Given the description of an element on the screen output the (x, y) to click on. 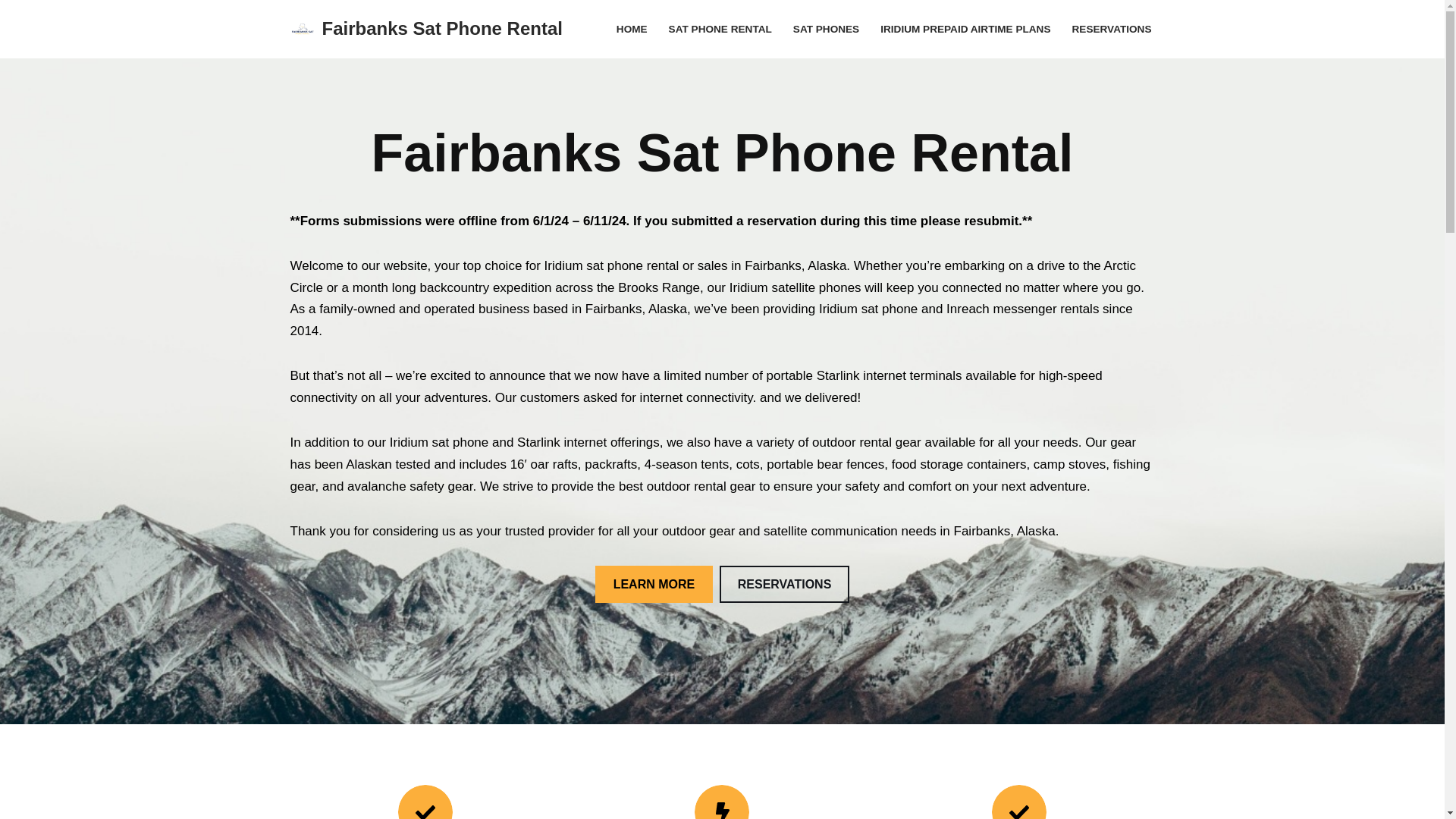
IRIDIUM PREPAID AIRTIME PLANS (964, 28)
HOME (631, 28)
RESERVATIONS (784, 584)
Fairbanks Sat Phone Rental (425, 29)
LEARN MORE (654, 584)
SAT PHONES (826, 28)
SAT PHONE RENTAL (719, 28)
Skip to content (11, 31)
RESERVATIONS (1111, 28)
